Given the description of an element on the screen output the (x, y) to click on. 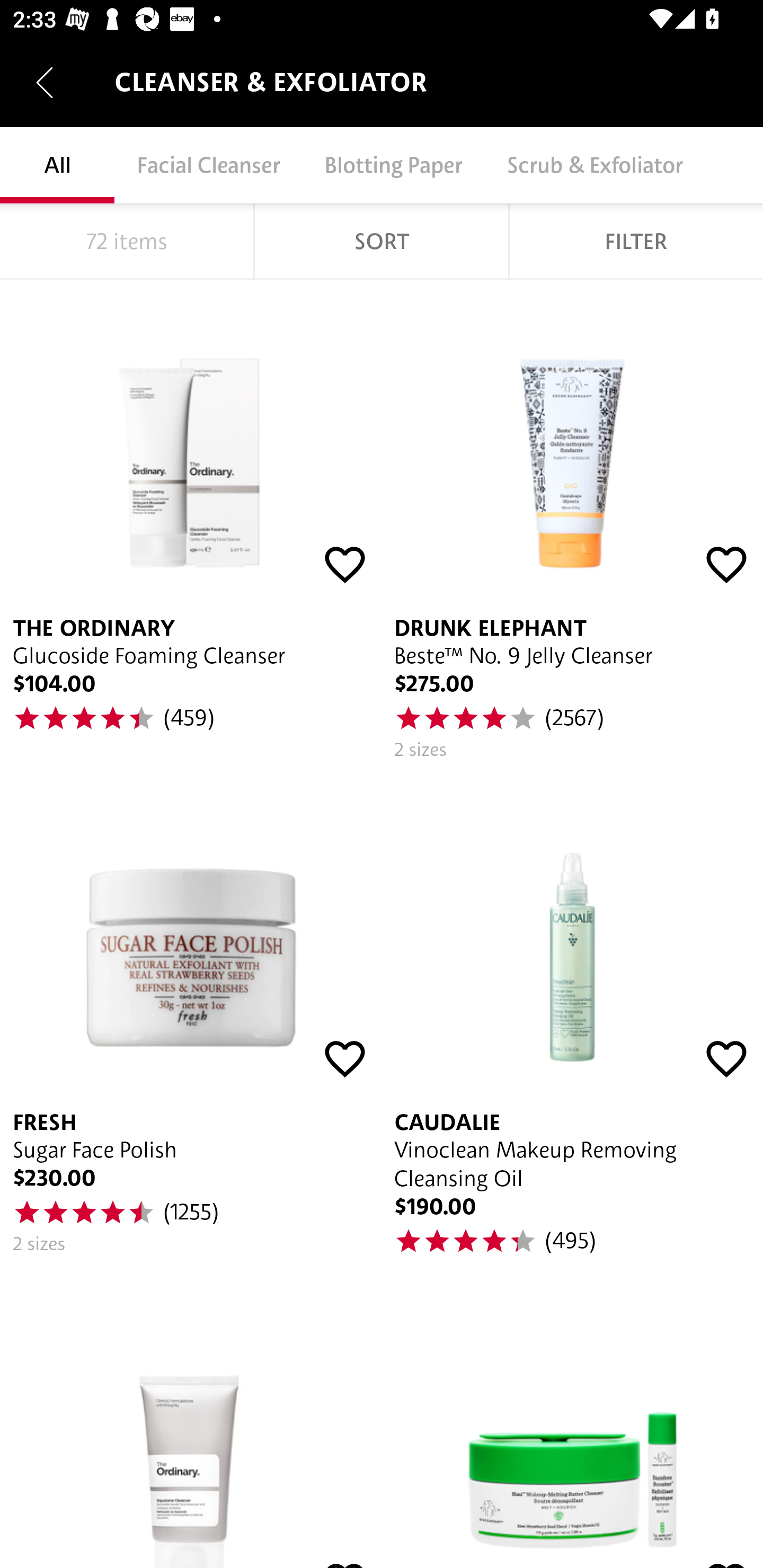
Navigate up (44, 82)
Facial Cleanser (208, 165)
Blotting Paper (393, 165)
Scrub & Exfoliator (594, 165)
SORT (381, 241)
FILTER (636, 241)
